Given the description of an element on the screen output the (x, y) to click on. 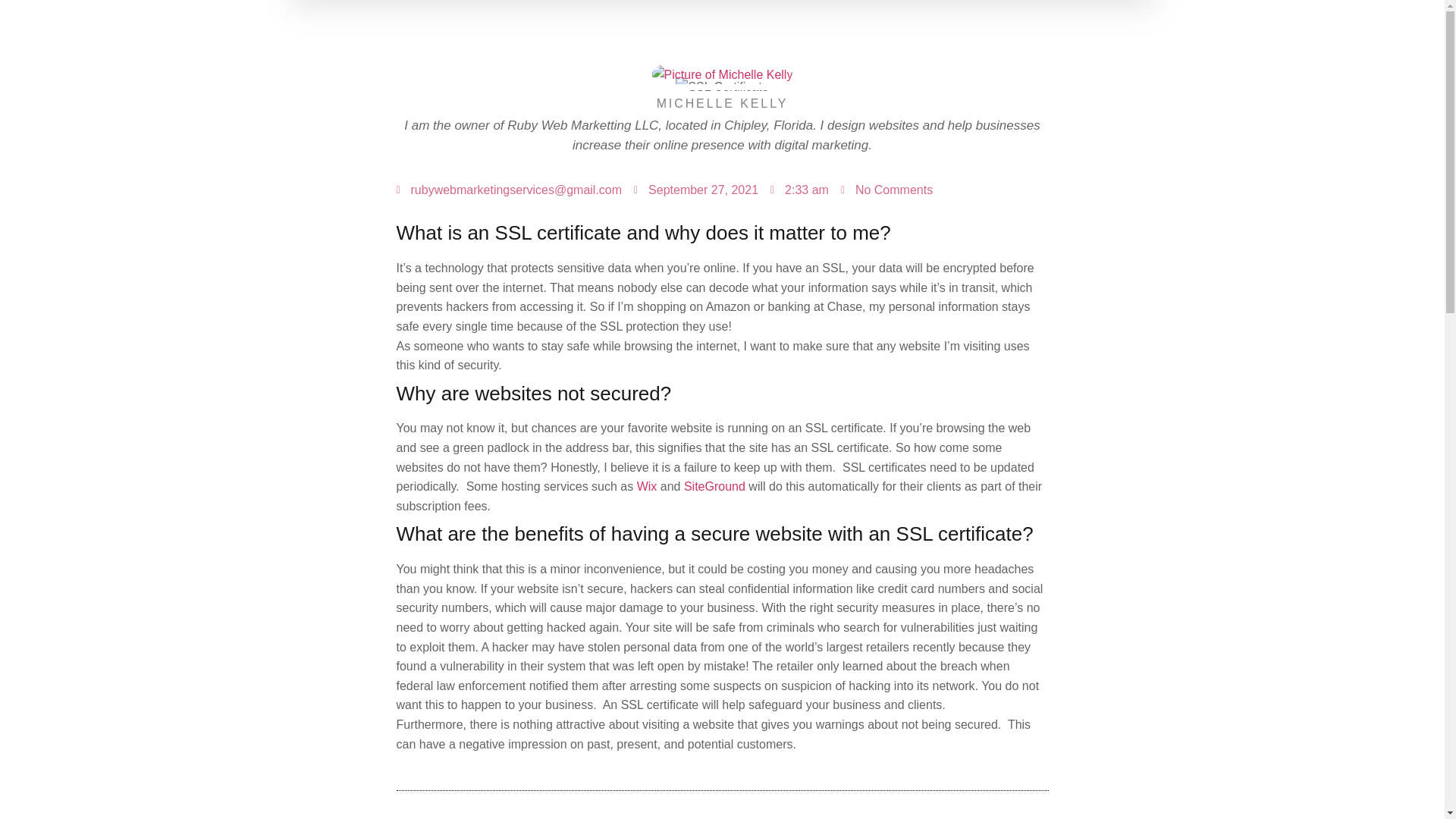
September 27, 2021 (695, 189)
MICHELLE KELLY (722, 104)
SiteGround (714, 486)
SSL Certificate (721, 86)
No Comments (887, 189)
Wix (647, 486)
